Given the description of an element on the screen output the (x, y) to click on. 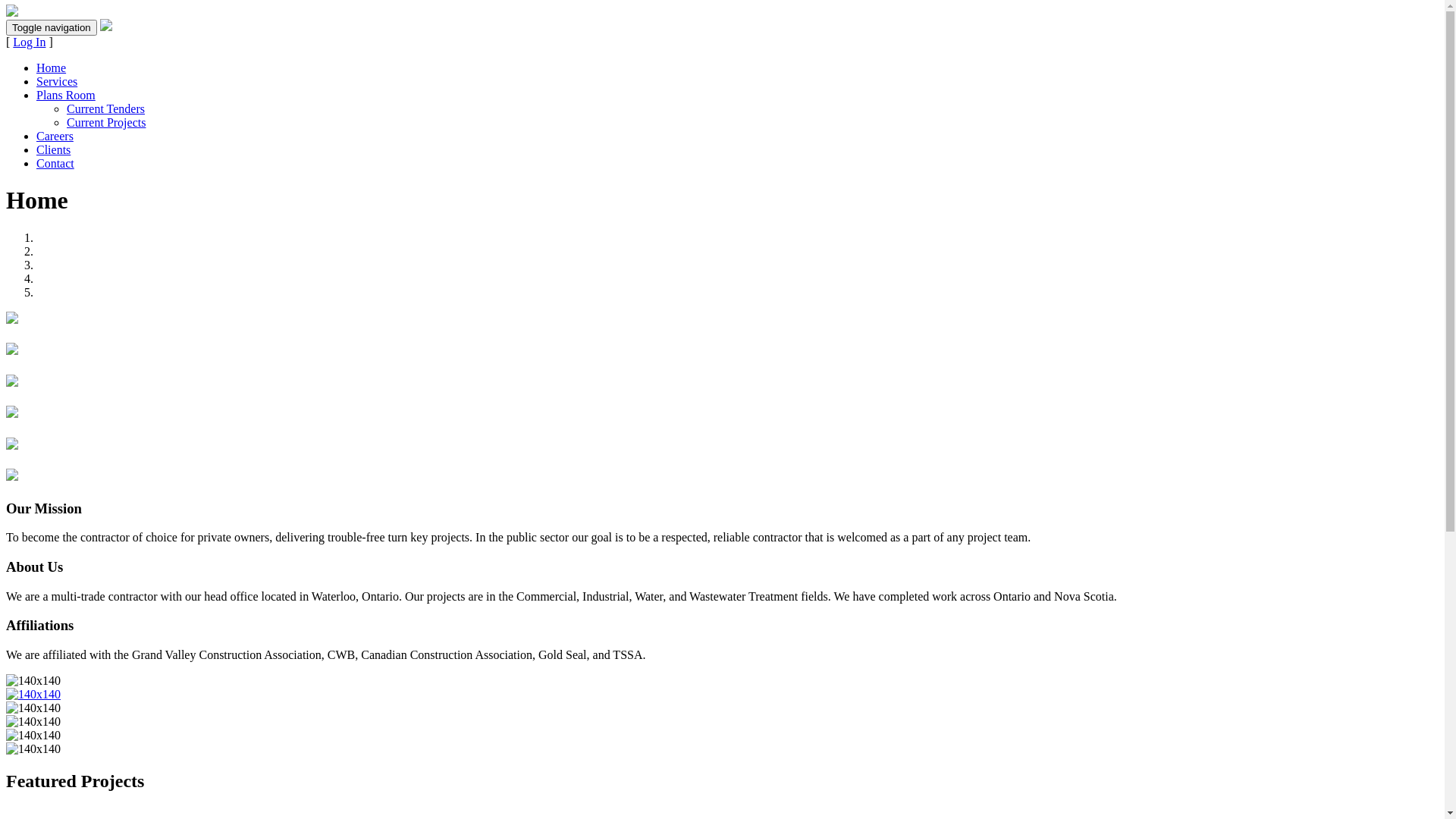
Home Element type: text (50, 67)
Current Projects Element type: text (105, 122)
Clients Element type: text (53, 149)
Current Tenders Element type: text (105, 108)
Careers Element type: text (54, 135)
Log In Element type: text (28, 41)
Plans Room Element type: text (65, 94)
Services Element type: text (56, 81)
Toggle navigation Element type: text (51, 27)
Contact Element type: text (55, 162)
